Given the description of an element on the screen output the (x, y) to click on. 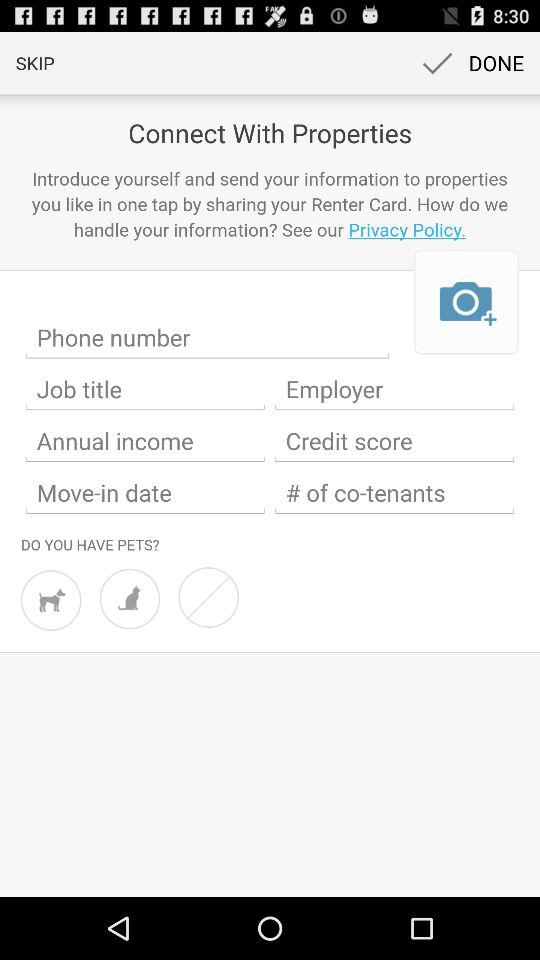
cat (129, 598)
